Given the description of an element on the screen output the (x, y) to click on. 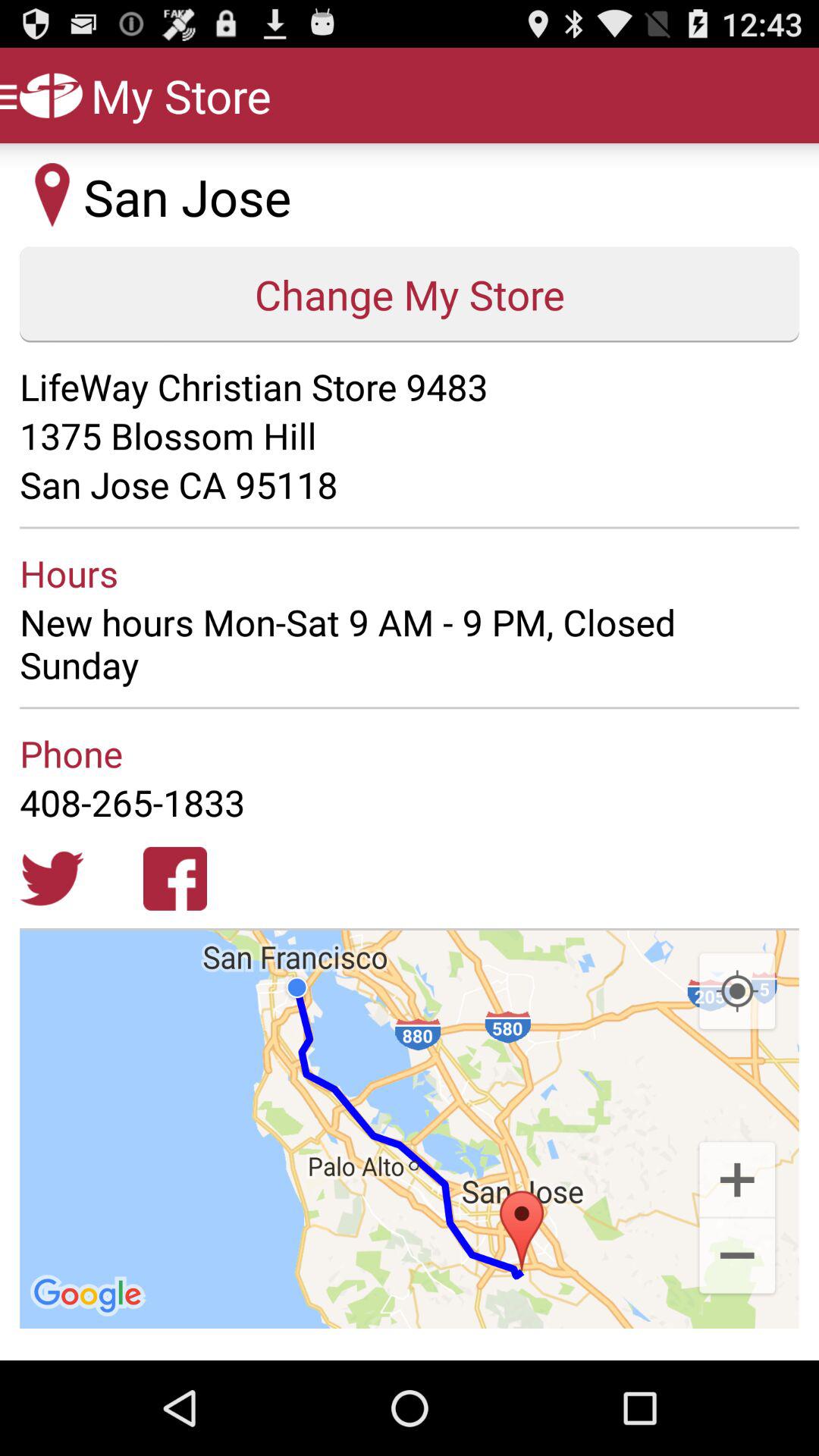
open twitter of store (51, 878)
